Given the description of an element on the screen output the (x, y) to click on. 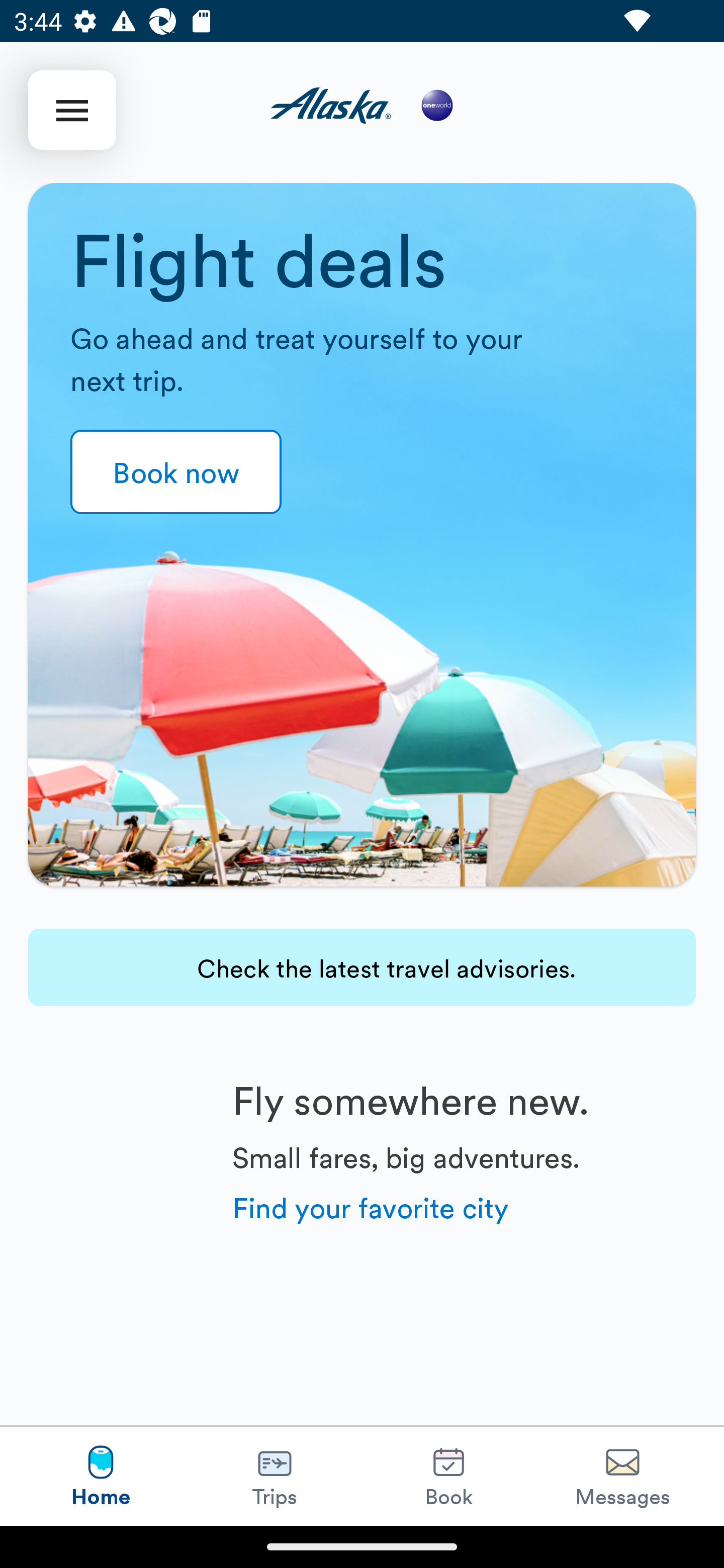
Book now (175, 471)
Check the latest travel advisories. (361, 967)
Find your favorite city (370, 1206)
Home (100, 1475)
Trips (275, 1475)
Book (448, 1475)
Messages (622, 1475)
